Given the description of an element on the screen output the (x, y) to click on. 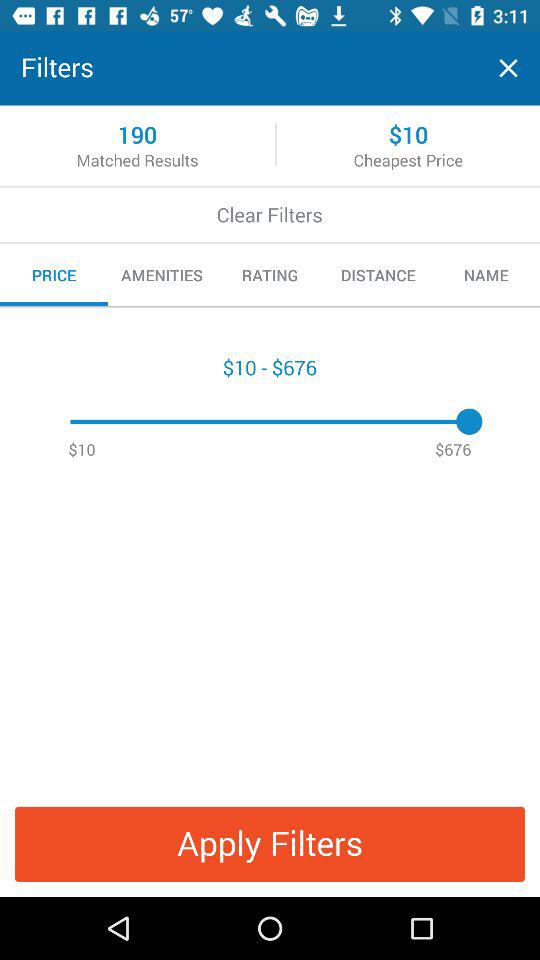
scroll until rating (270, 275)
